Given the description of an element on the screen output the (x, y) to click on. 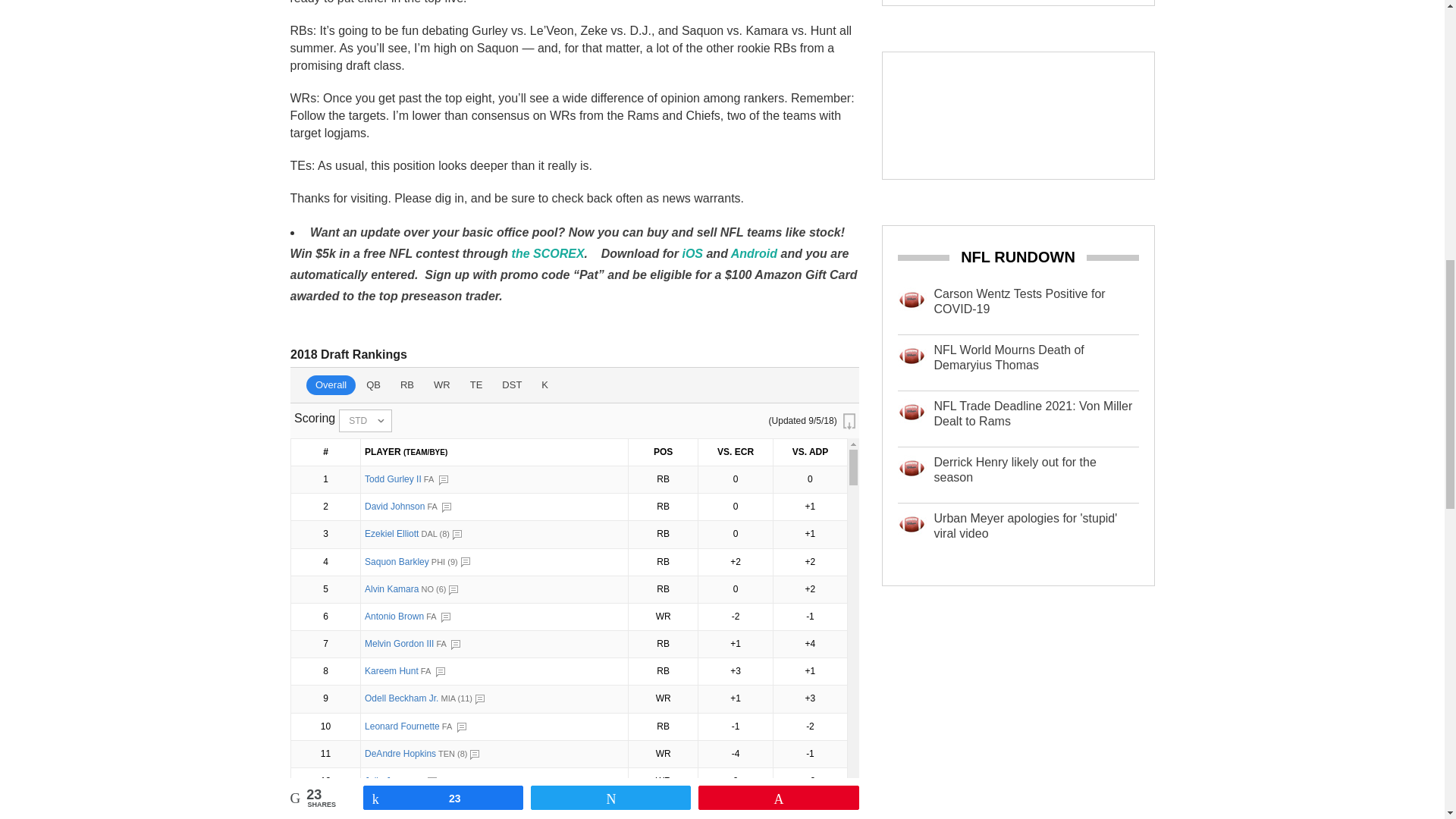
the SCOREX (548, 253)
